Given the description of an element on the screen output the (x, y) to click on. 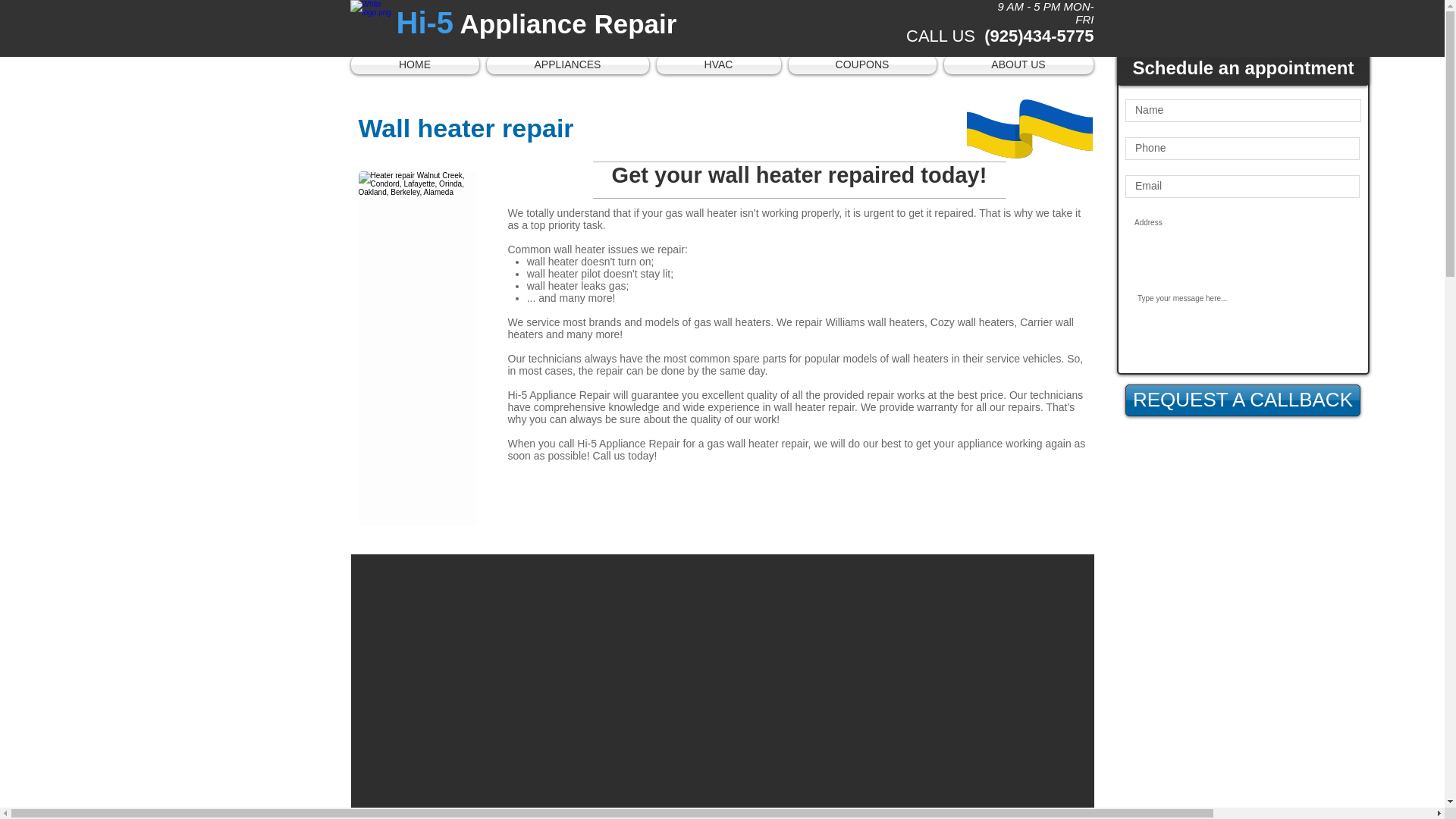
HOME (415, 64)
COUPONS (861, 64)
REQUEST A CALLBACK (1242, 400)
